Given the description of an element on the screen output the (x, y) to click on. 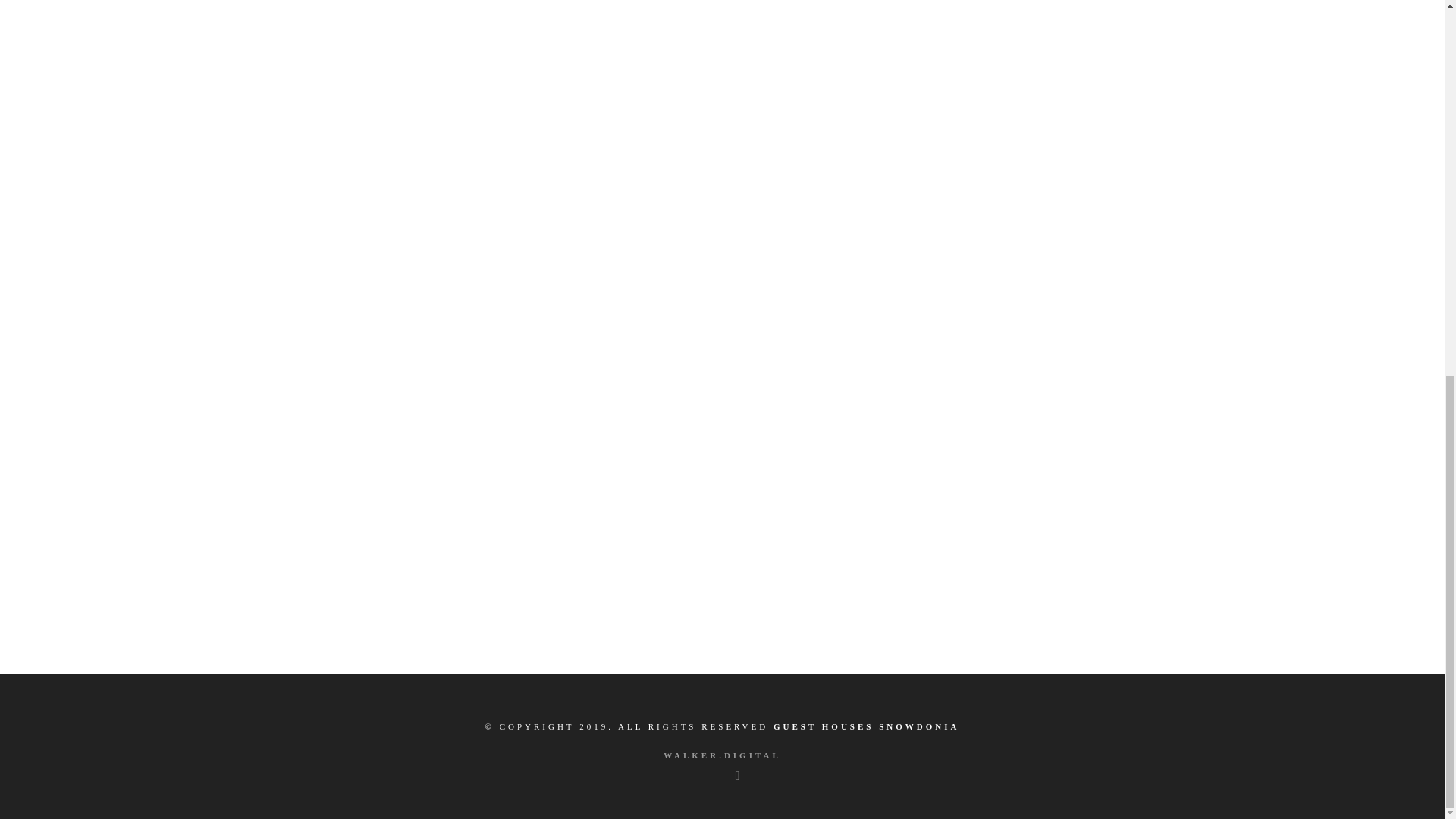
TripAdvisor (737, 775)
Facebook (703, 775)
